Given the description of an element on the screen output the (x, y) to click on. 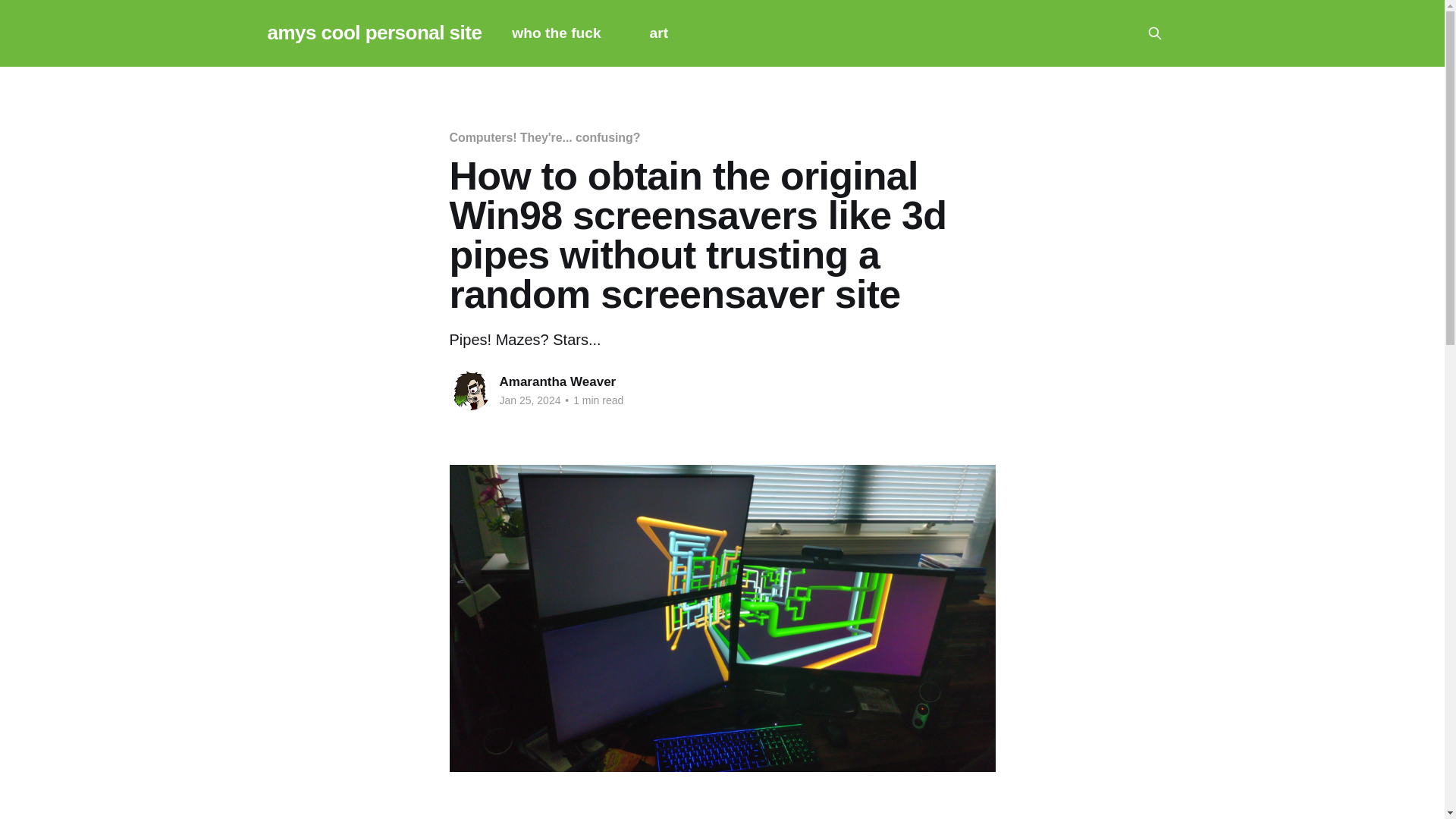
art (658, 33)
Amarantha Weaver (557, 381)
Computers! They're... confusing? (544, 137)
who the fuck (555, 33)
amys cool personal site (373, 32)
